Given the description of an element on the screen output the (x, y) to click on. 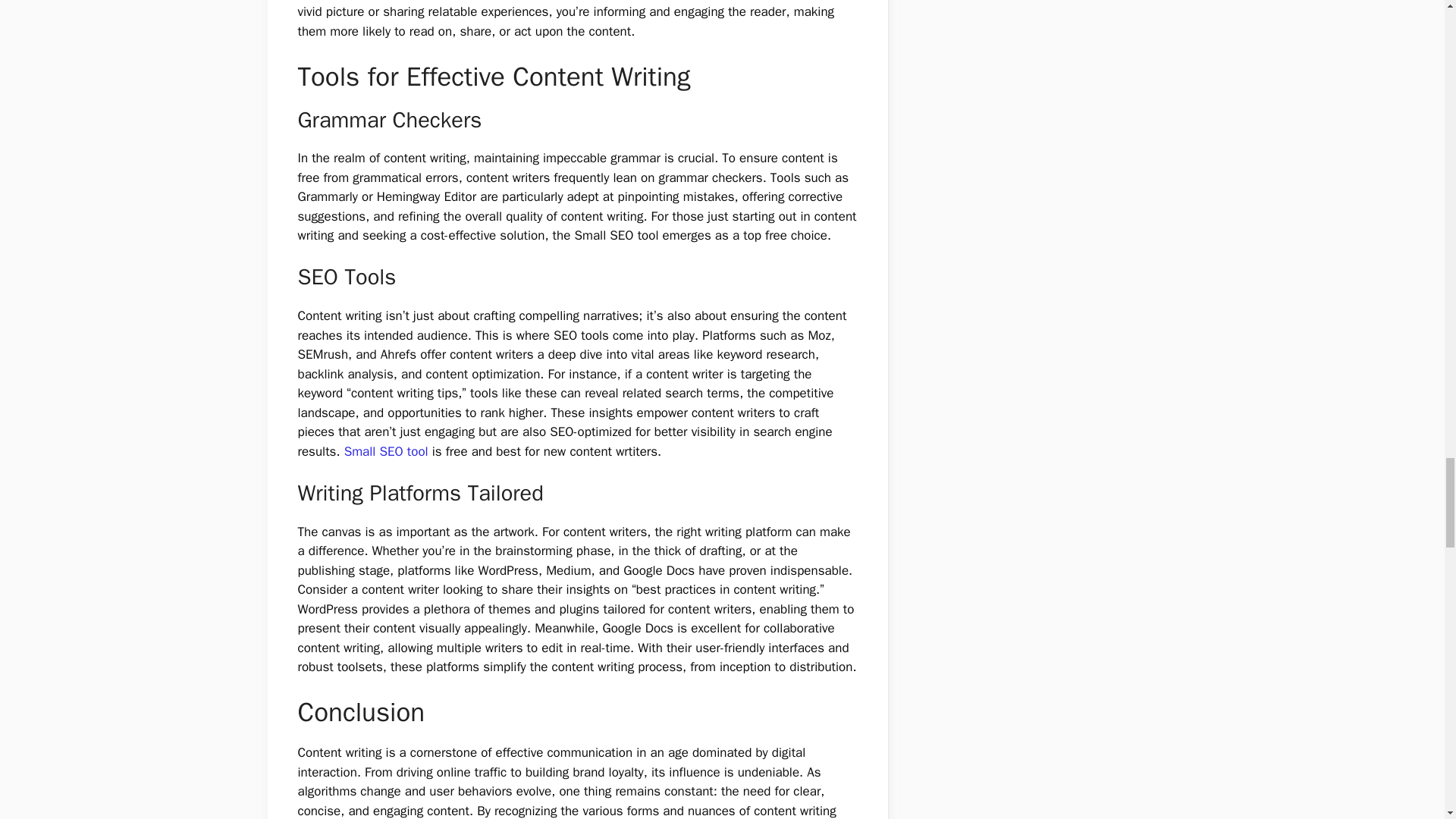
Small SEO tool (385, 451)
